Given the description of an element on the screen output the (x, y) to click on. 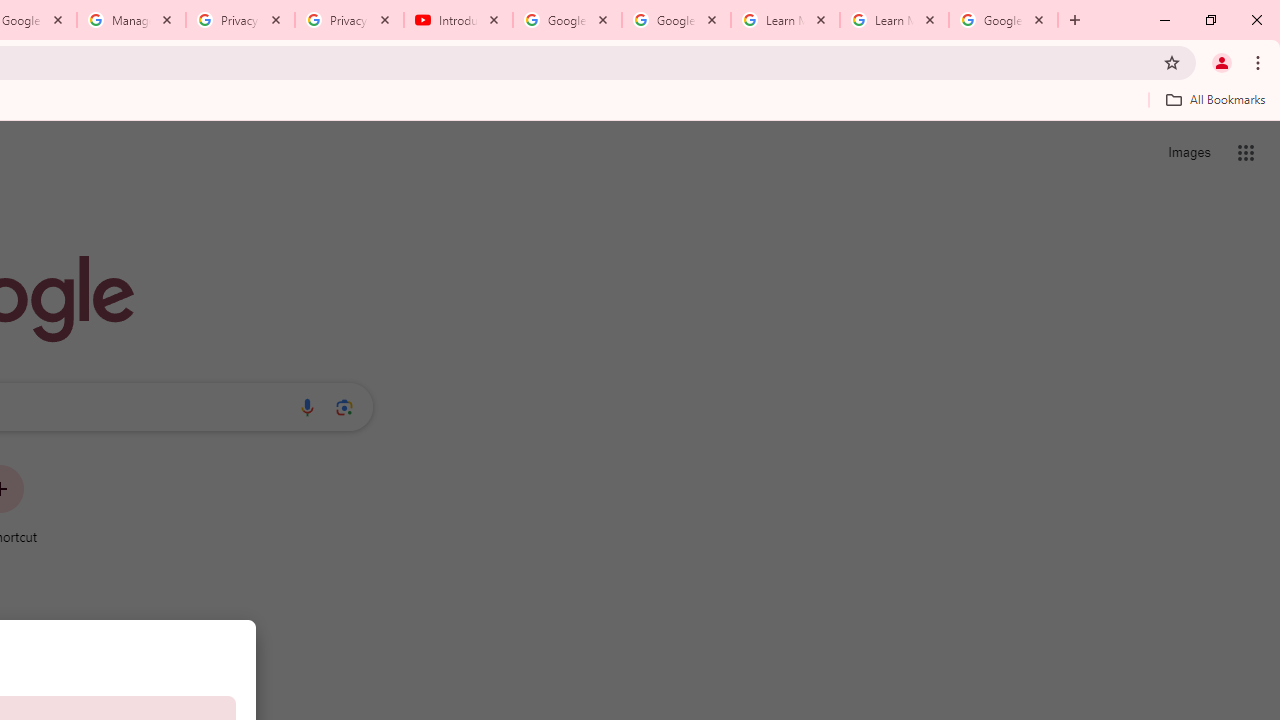
Introduction | Google Privacy Policy - YouTube (458, 20)
Google Account (1003, 20)
